Given the description of an element on the screen output the (x, y) to click on. 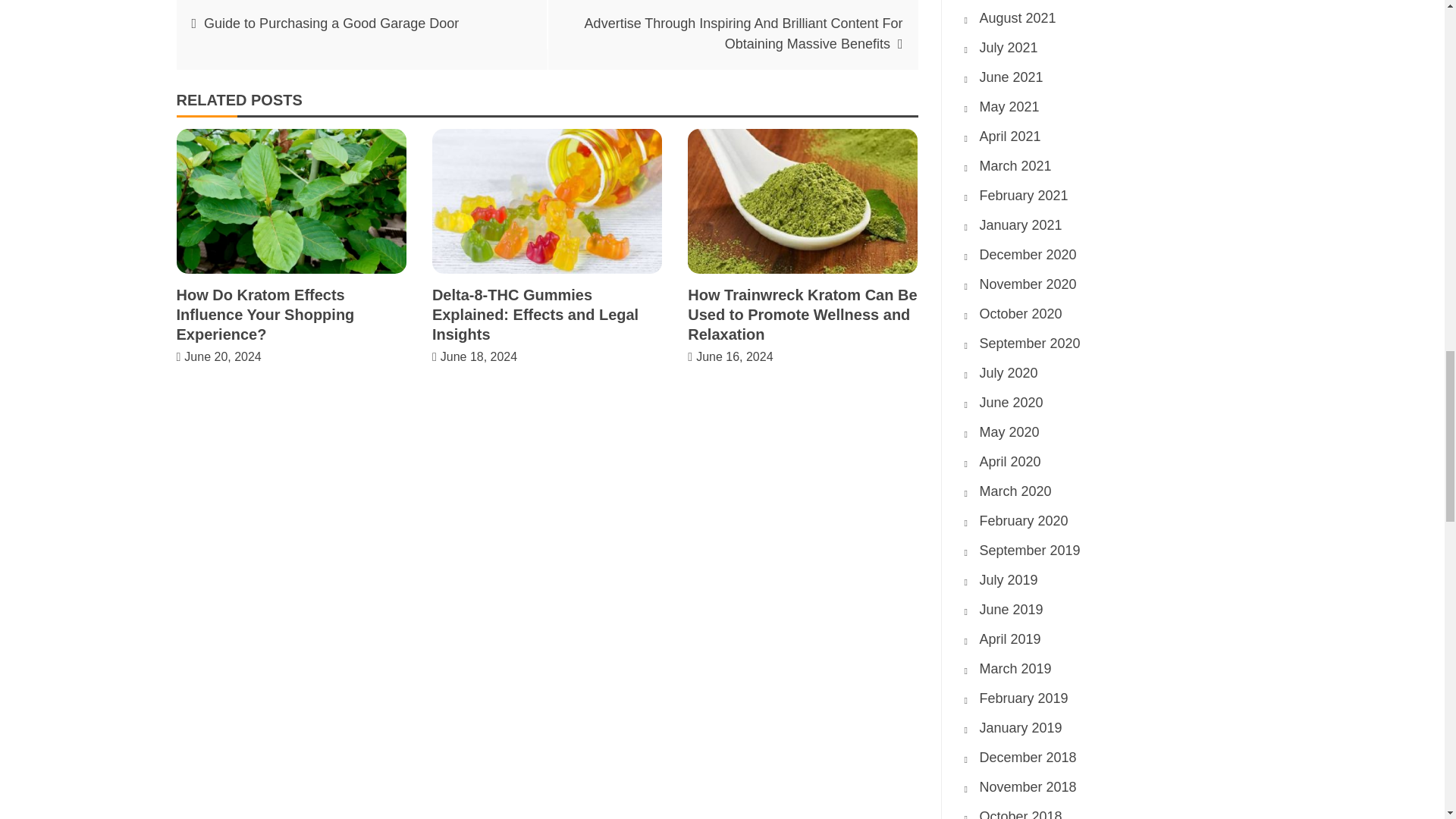
How Do Kratom Effects Influence Your Shopping Experience? (264, 314)
Guide to Purchasing a Good Garage Door (330, 23)
June 18, 2024 (478, 356)
June 20, 2024 (222, 356)
June 16, 2024 (734, 356)
Delta-8-THC Gummies Explained: Effects and Legal Insights (535, 314)
